Given the description of an element on the screen output the (x, y) to click on. 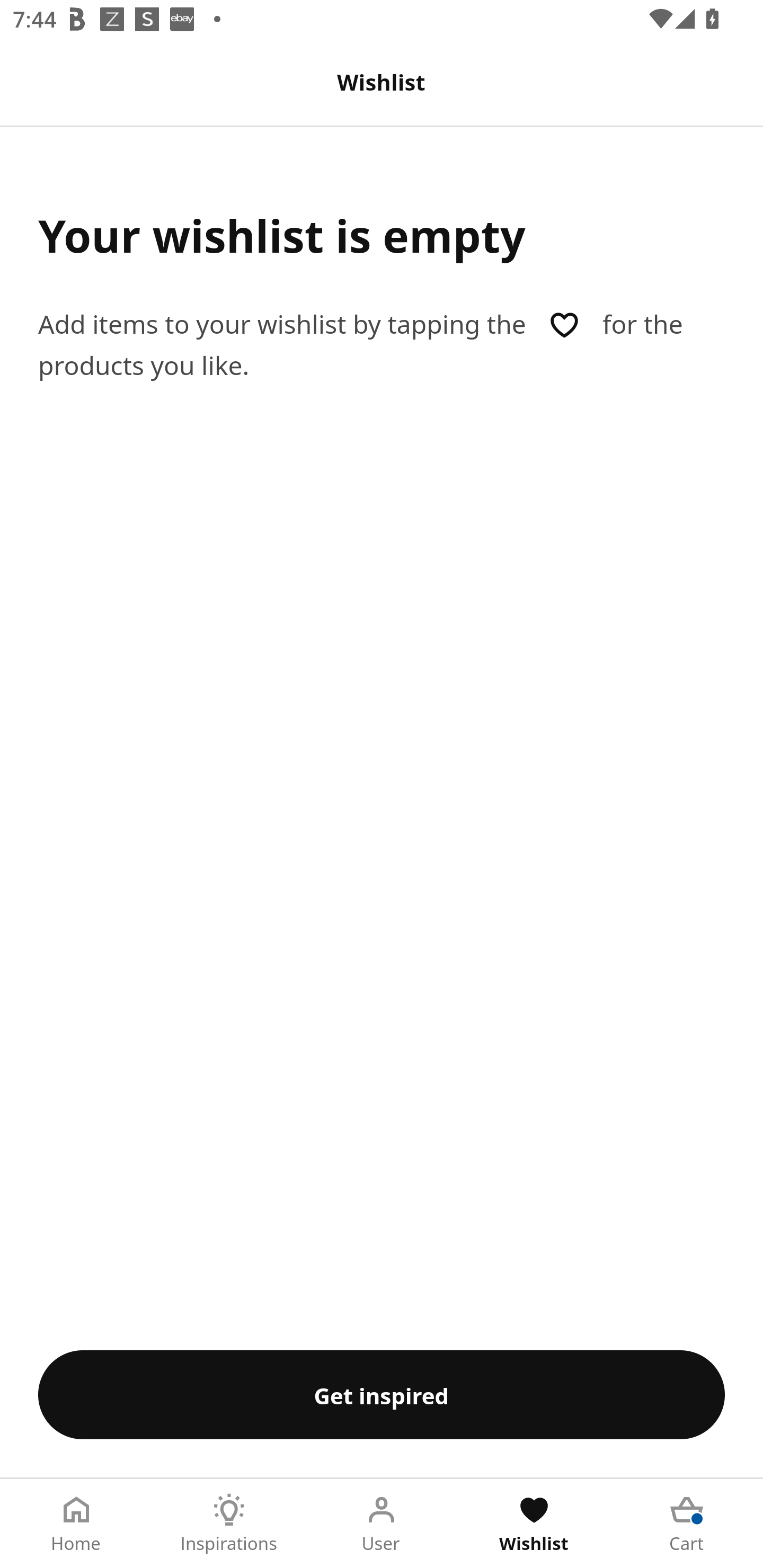
Get inspired (381, 1394)
Home
Tab 1 of 5 (76, 1522)
Inspirations
Tab 2 of 5 (228, 1522)
User
Tab 3 of 5 (381, 1522)
Wishlist
Tab 4 of 5 (533, 1522)
Cart
Tab 5 of 5 (686, 1522)
